Given the description of an element on the screen output the (x, y) to click on. 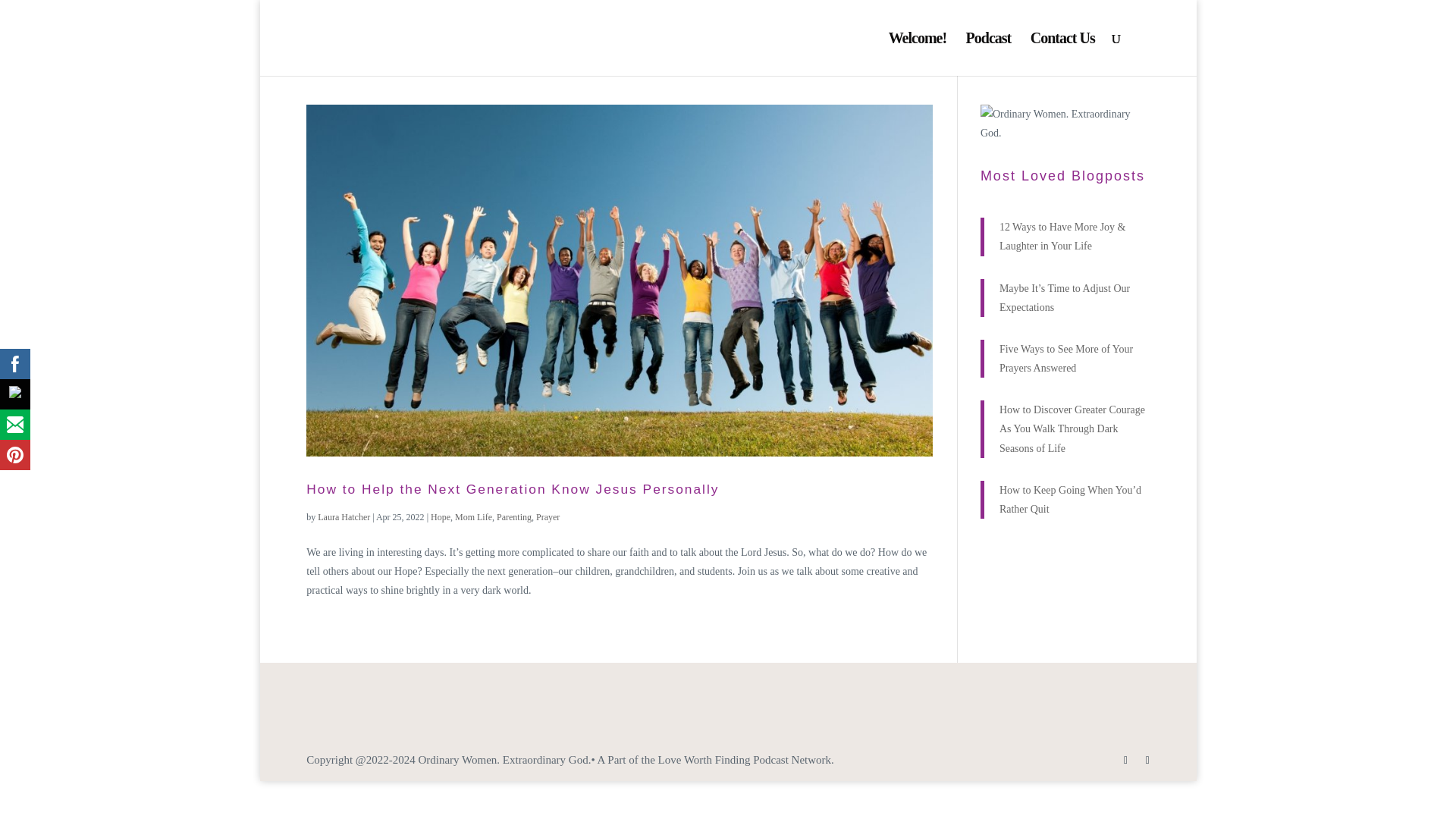
Podcast (988, 54)
Posts by Laura Hatcher (343, 516)
Five Ways to See More of Your Prayers Answered (1065, 358)
Parenting (513, 516)
Welcome! (917, 54)
Laura Hatcher (343, 516)
Prayer (547, 516)
Hope (439, 516)
Contact Us (1062, 54)
How to Help the Next Generation Know Jesus Personally (512, 488)
Mom Life (473, 516)
